Given the description of an element on the screen output the (x, y) to click on. 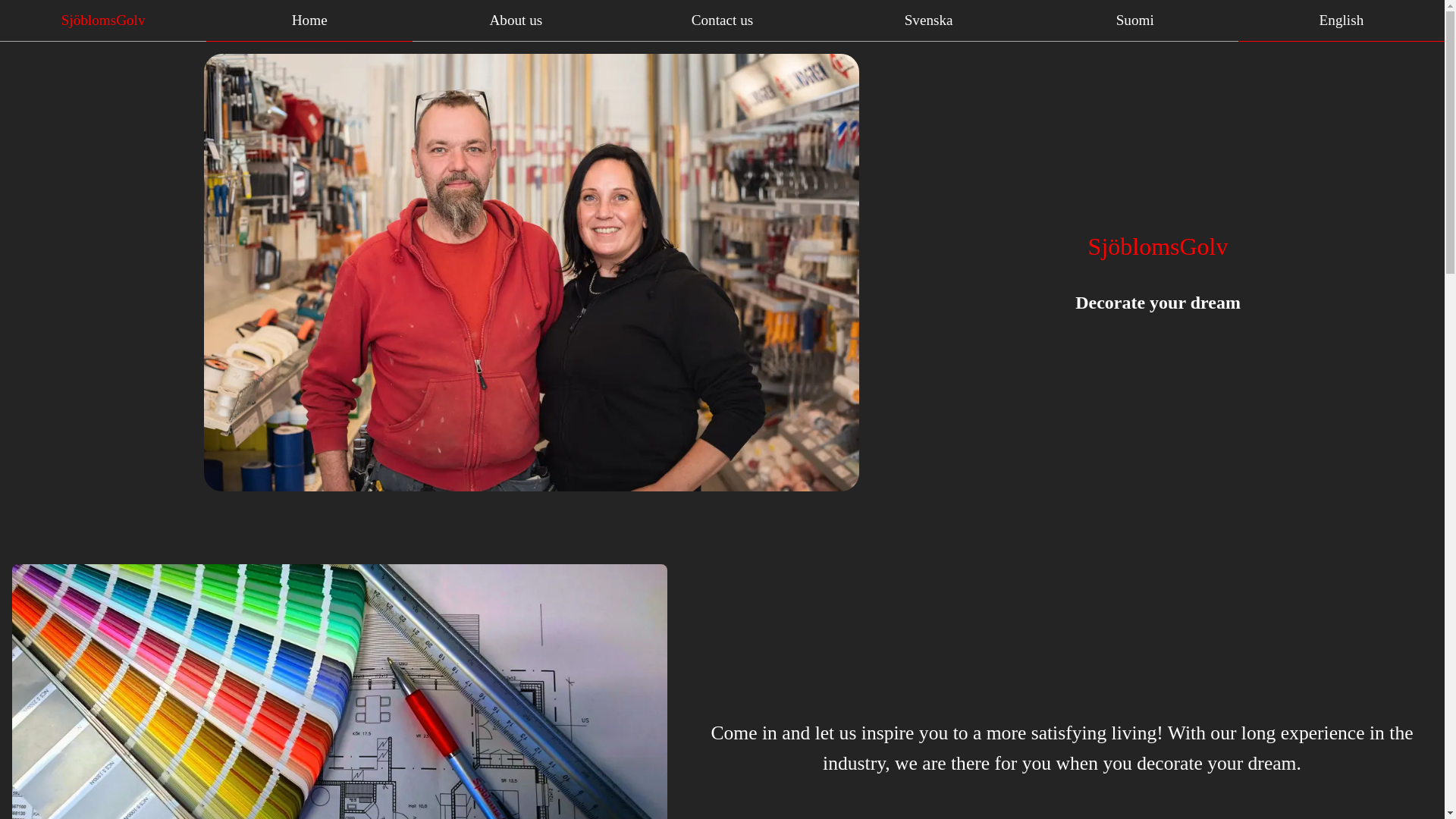
Home (309, 20)
Suomi (1135, 20)
Contact us (721, 20)
Svenska (928, 20)
About us (515, 20)
